Given the description of an element on the screen output the (x, y) to click on. 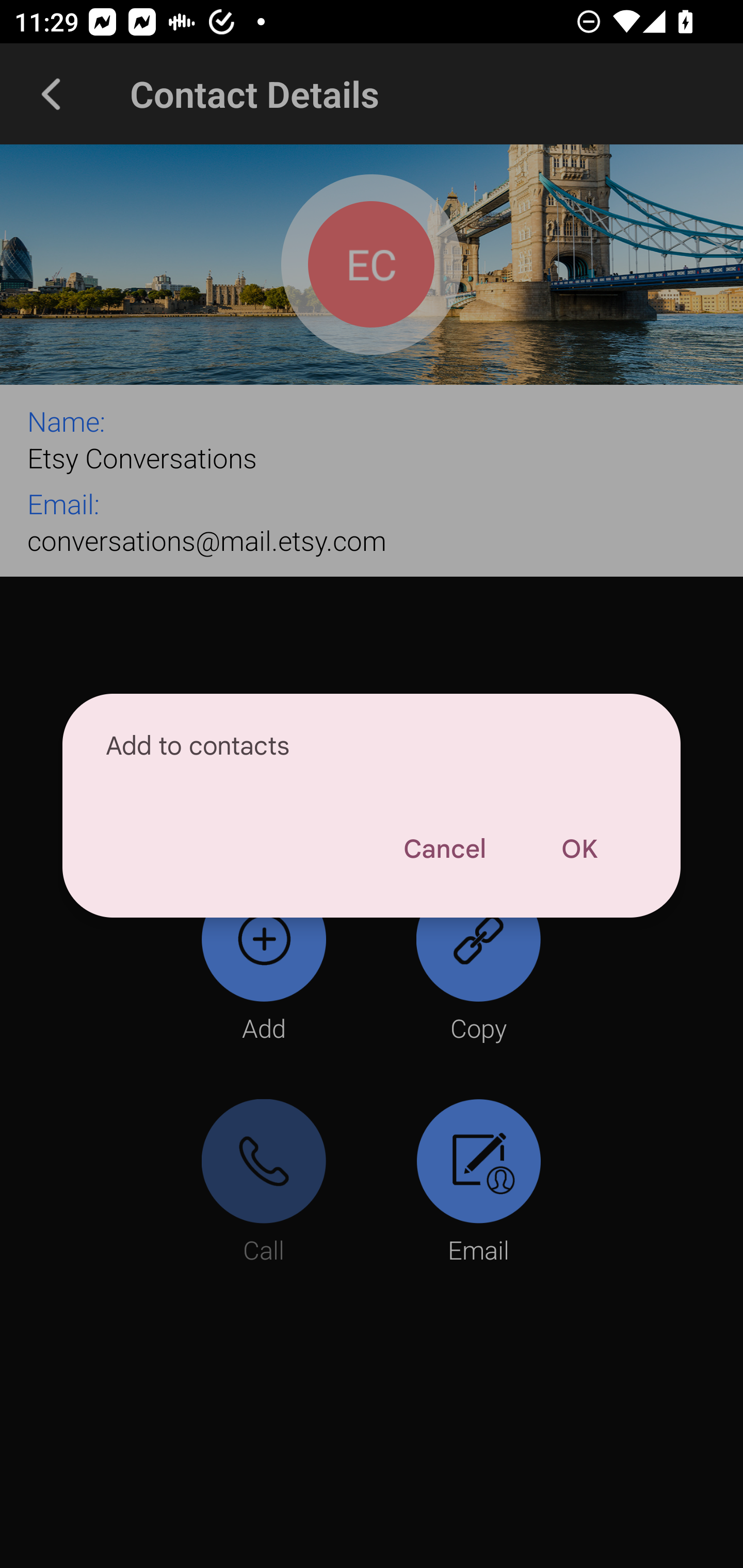
Cancel (444, 848)
OK (579, 848)
